Given the description of an element on the screen output the (x, y) to click on. 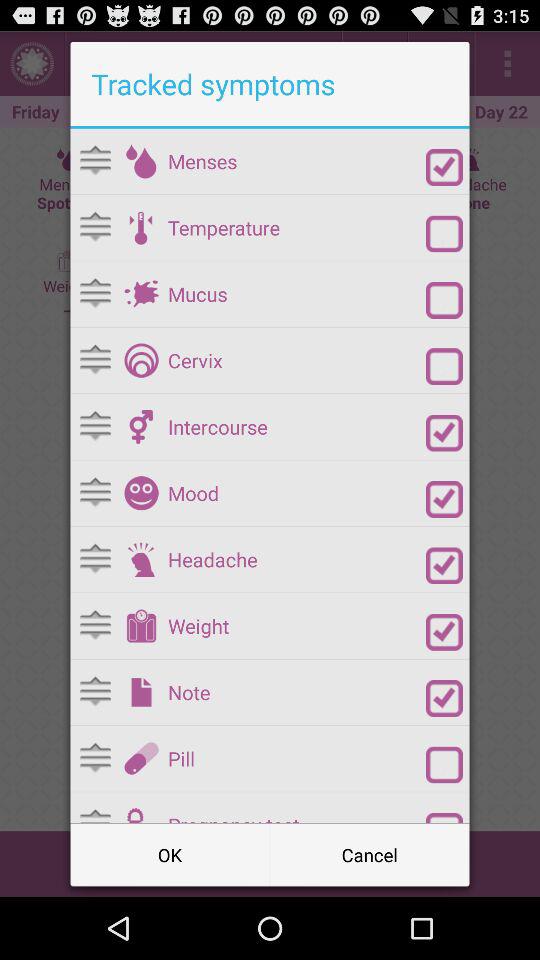
scroll until cancel button (369, 854)
